Given the description of an element on the screen output the (x, y) to click on. 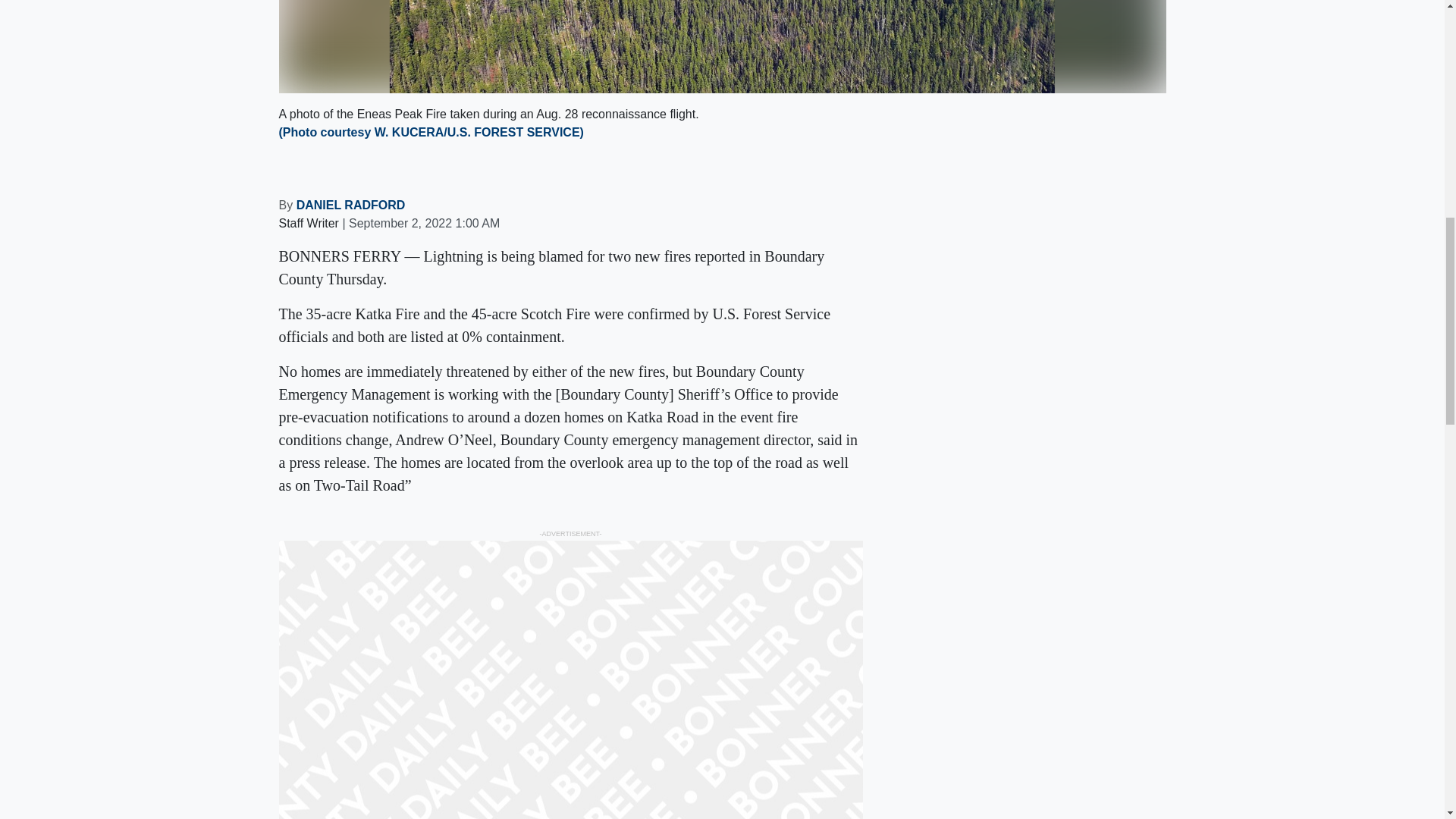
3rd party ad content (1052, 735)
